Given the description of an element on the screen output the (x, y) to click on. 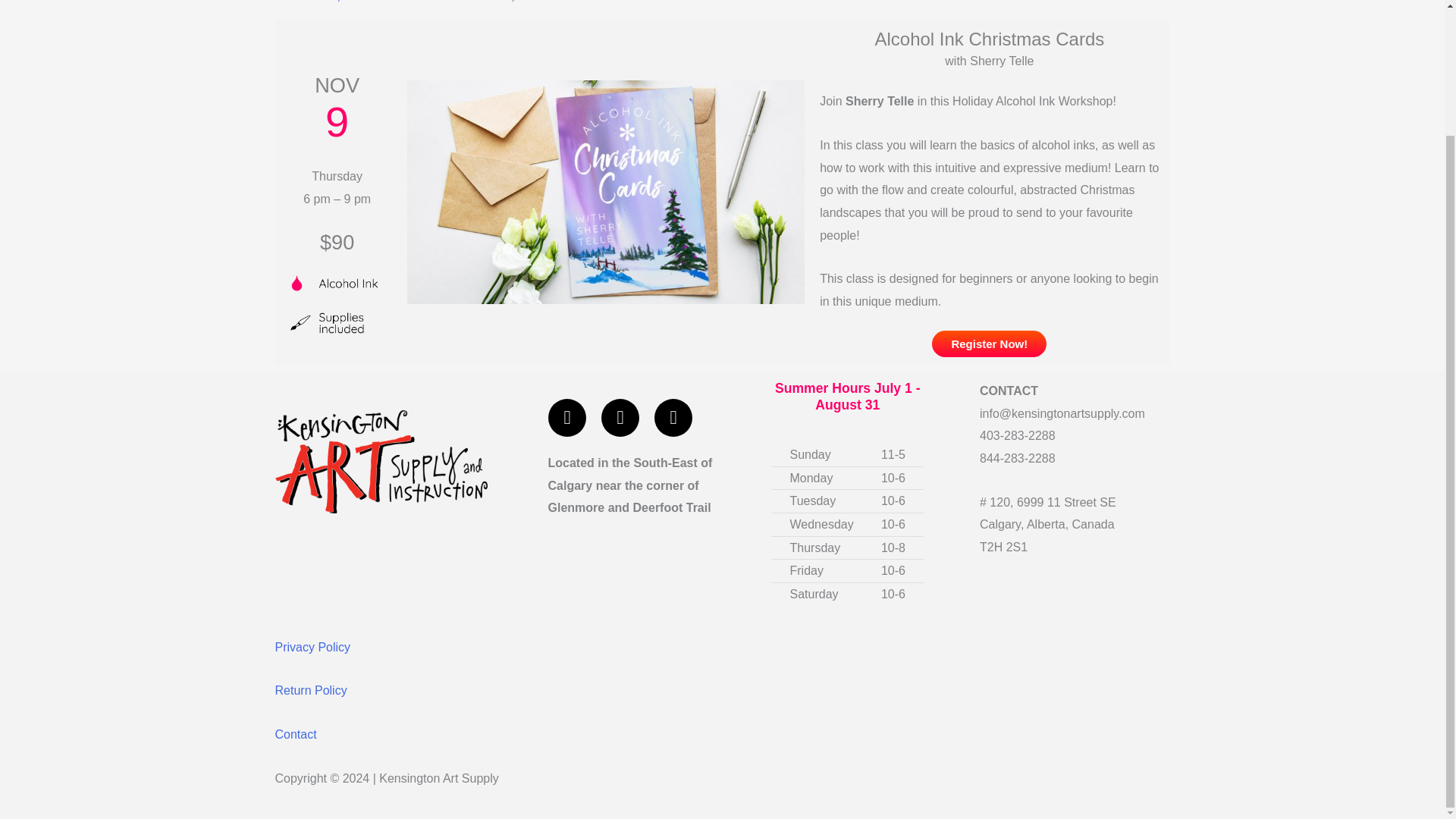
Instagram (620, 417)
Return Policy (310, 689)
Envelope (673, 417)
Register Now! (988, 343)
Home (278, 0)
Contact (295, 734)
Privacy Policy (312, 646)
Workshop (321, 0)
Facebook (567, 417)
